Given the description of an element on the screen output the (x, y) to click on. 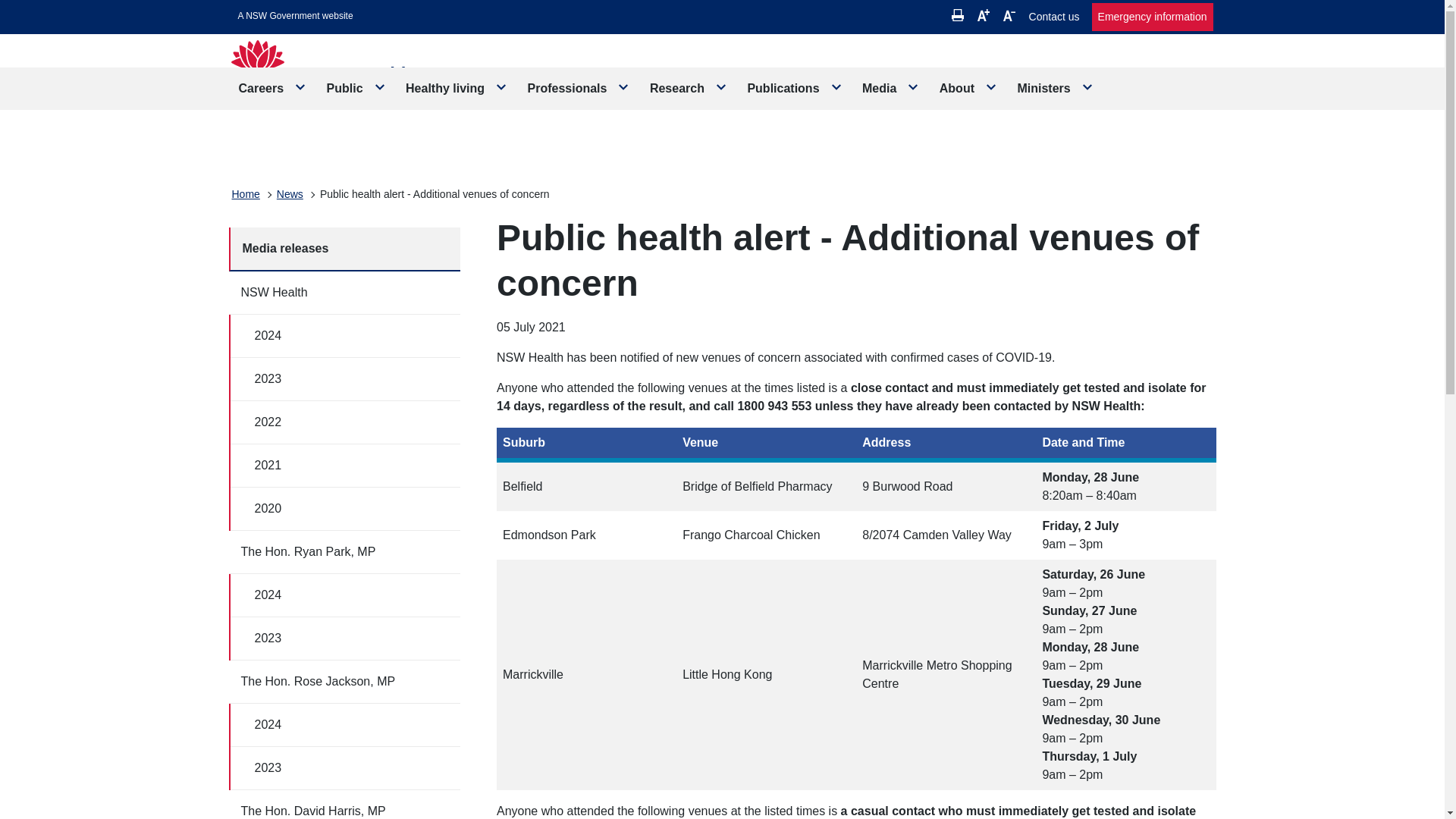
Public (356, 88)
Home (245, 193)
Skip to content (296, 15)
Careers (272, 88)
Decrease Font Size (1008, 15)
Print Page (957, 15)
Go to homepage (347, 79)
Contact us (1054, 17)
Emergency information (1152, 17)
Increase Font Size (983, 15)
